Given the description of an element on the screen output the (x, y) to click on. 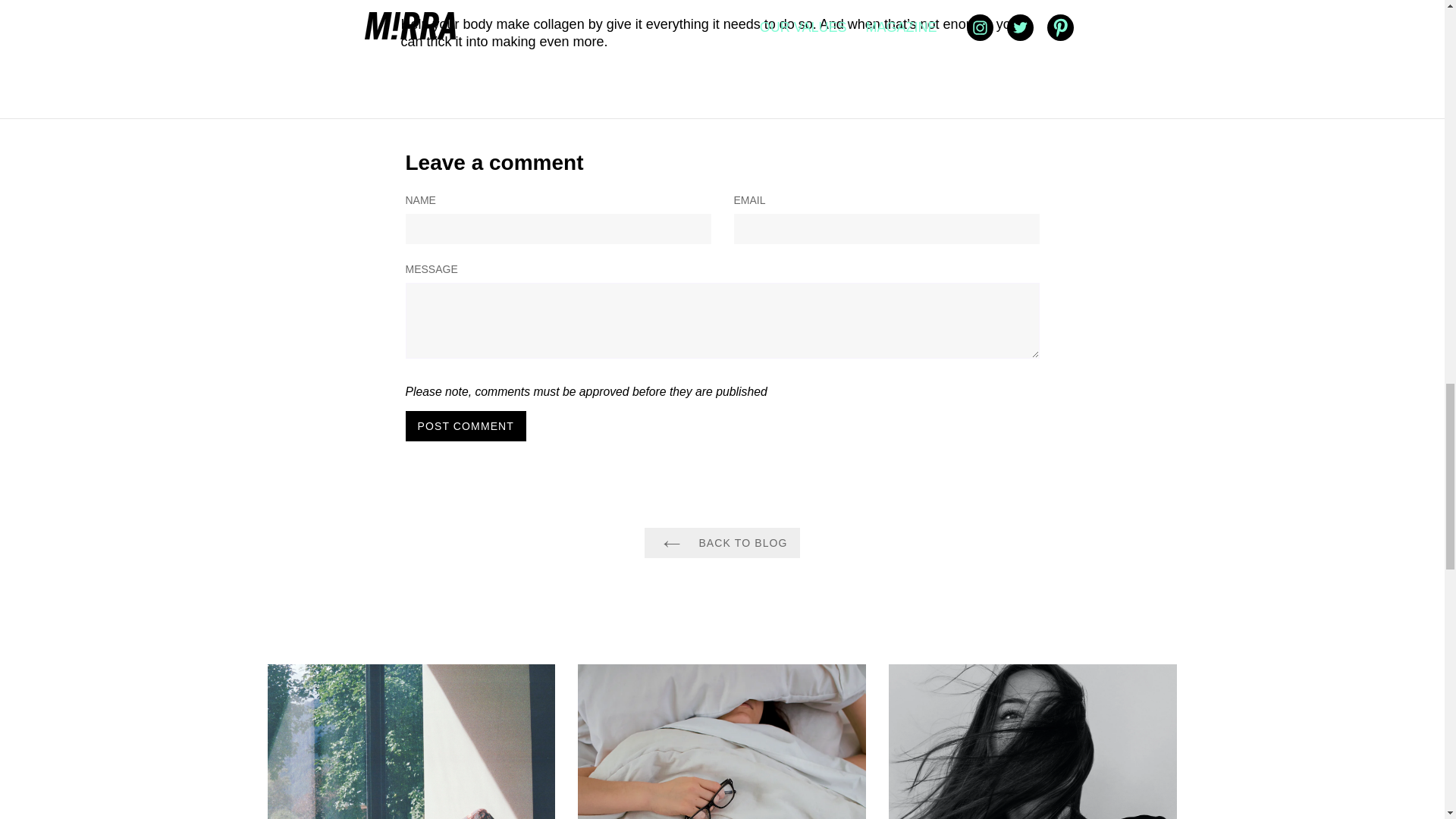
Post comment (464, 426)
Self Care 101: The 6 Different Types of Self-Care (410, 741)
BACK TO BLOG (722, 542)
Post comment (464, 426)
